Given the description of an element on the screen output the (x, y) to click on. 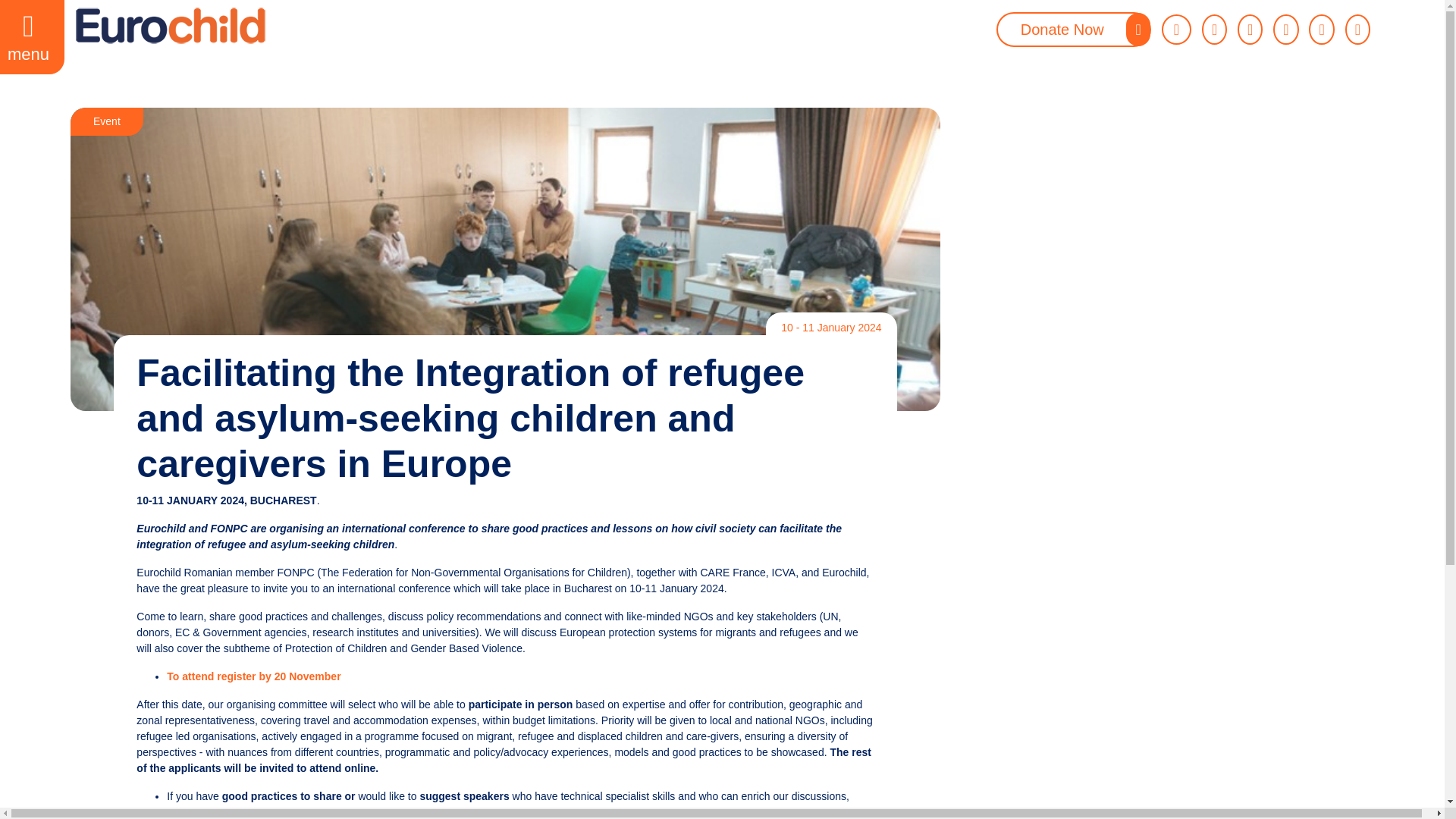
Eurochild (169, 25)
Donate Now (1073, 29)
To attend register by 20 November (253, 676)
